Given the description of an element on the screen output the (x, y) to click on. 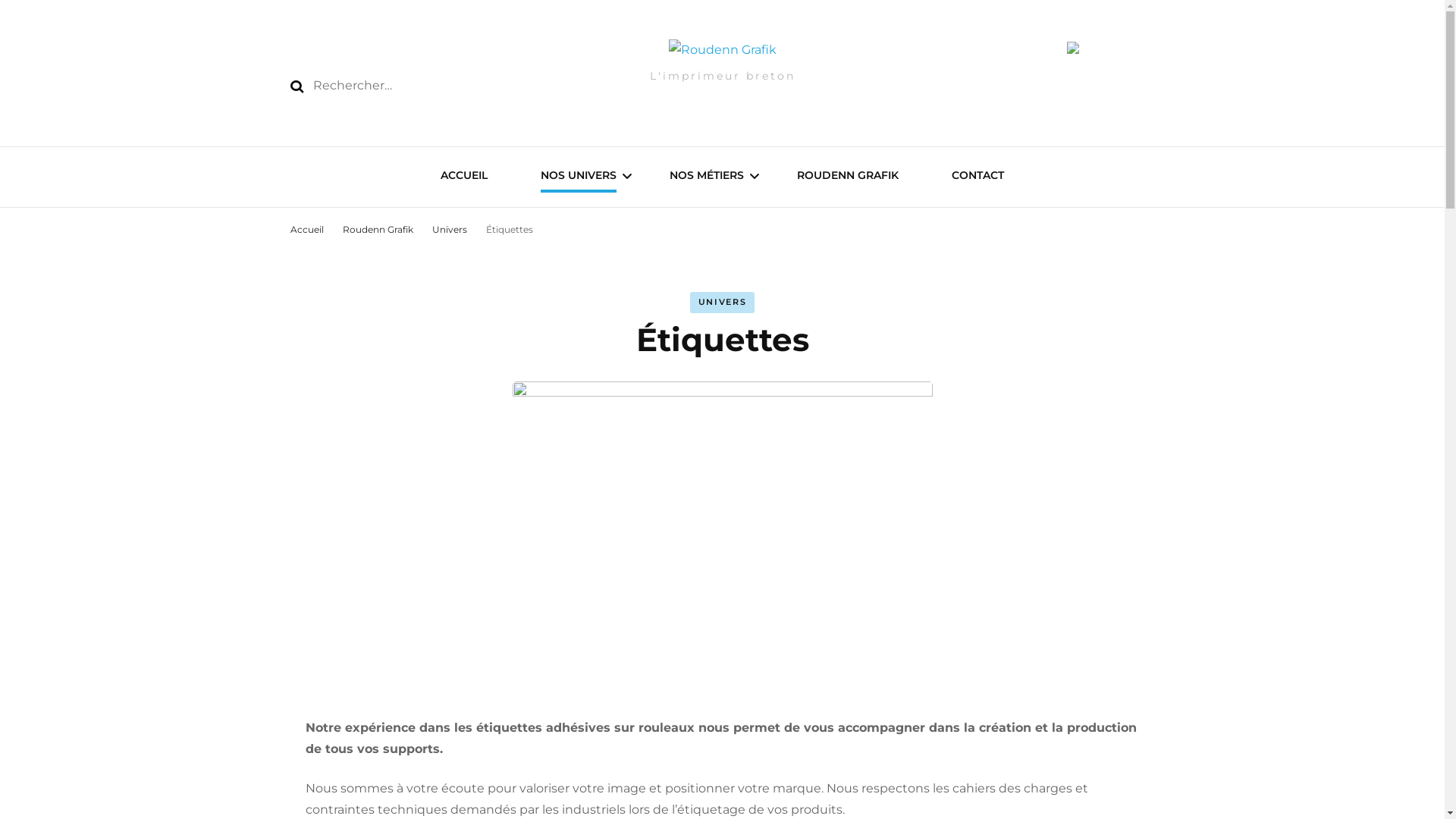
ROUDENN GRAFIK Element type: text (847, 176)
Univers Element type: text (450, 229)
CONTACT Element type: text (977, 176)
UNIVERS Element type: text (722, 302)
ACCUEIL Element type: text (463, 176)
NOS UNIVERS Element type: text (578, 176)
Roudenn Grafik Element type: text (378, 229)
Accueil Element type: text (306, 229)
Rechercher Element type: text (296, 86)
